Given the description of an element on the screen output the (x, y) to click on. 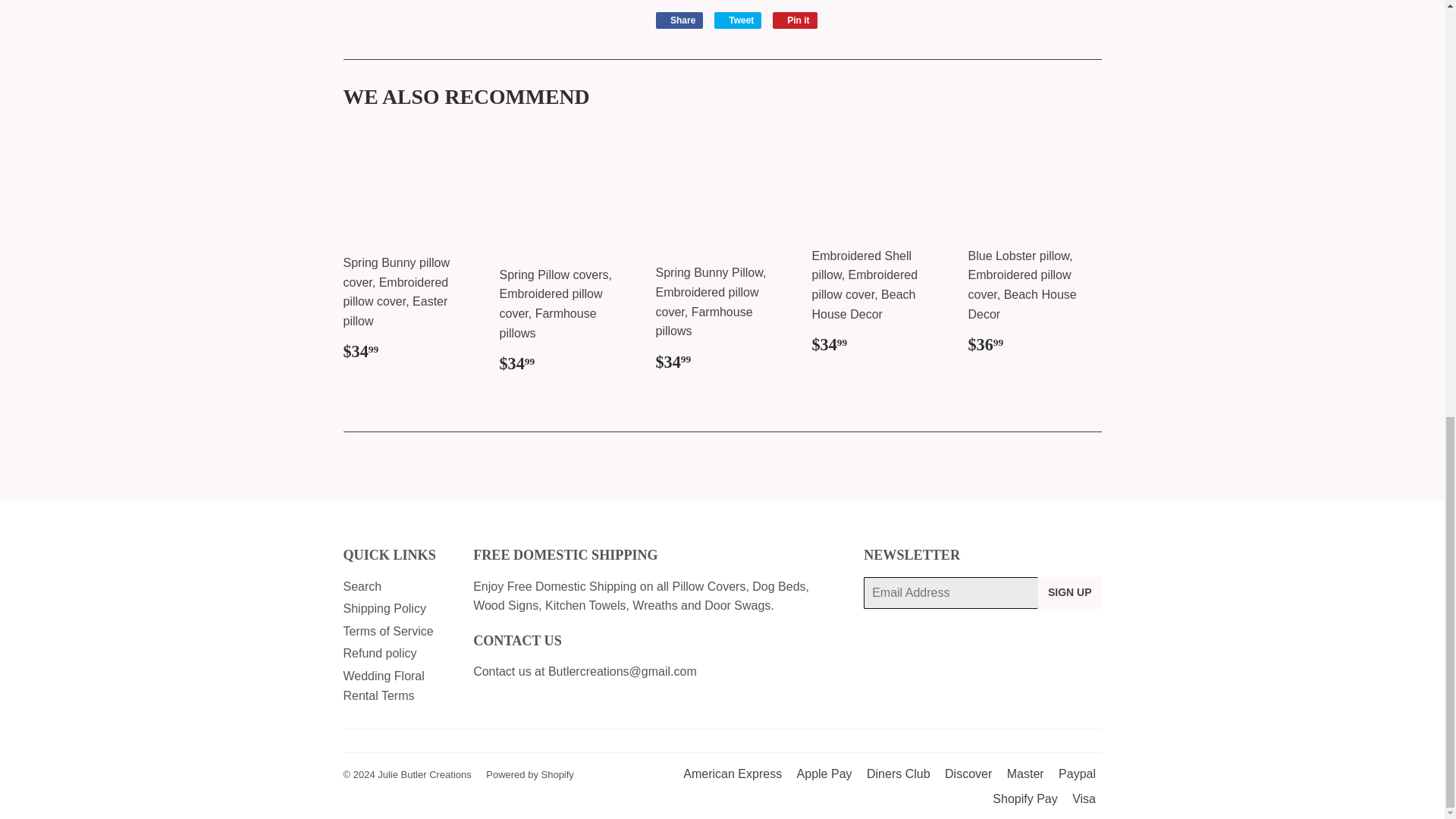
Tweet on Twitter (737, 20)
Share on Facebook (679, 20)
Pin on Pinterest (794, 20)
